Given the description of an element on the screen output the (x, y) to click on. 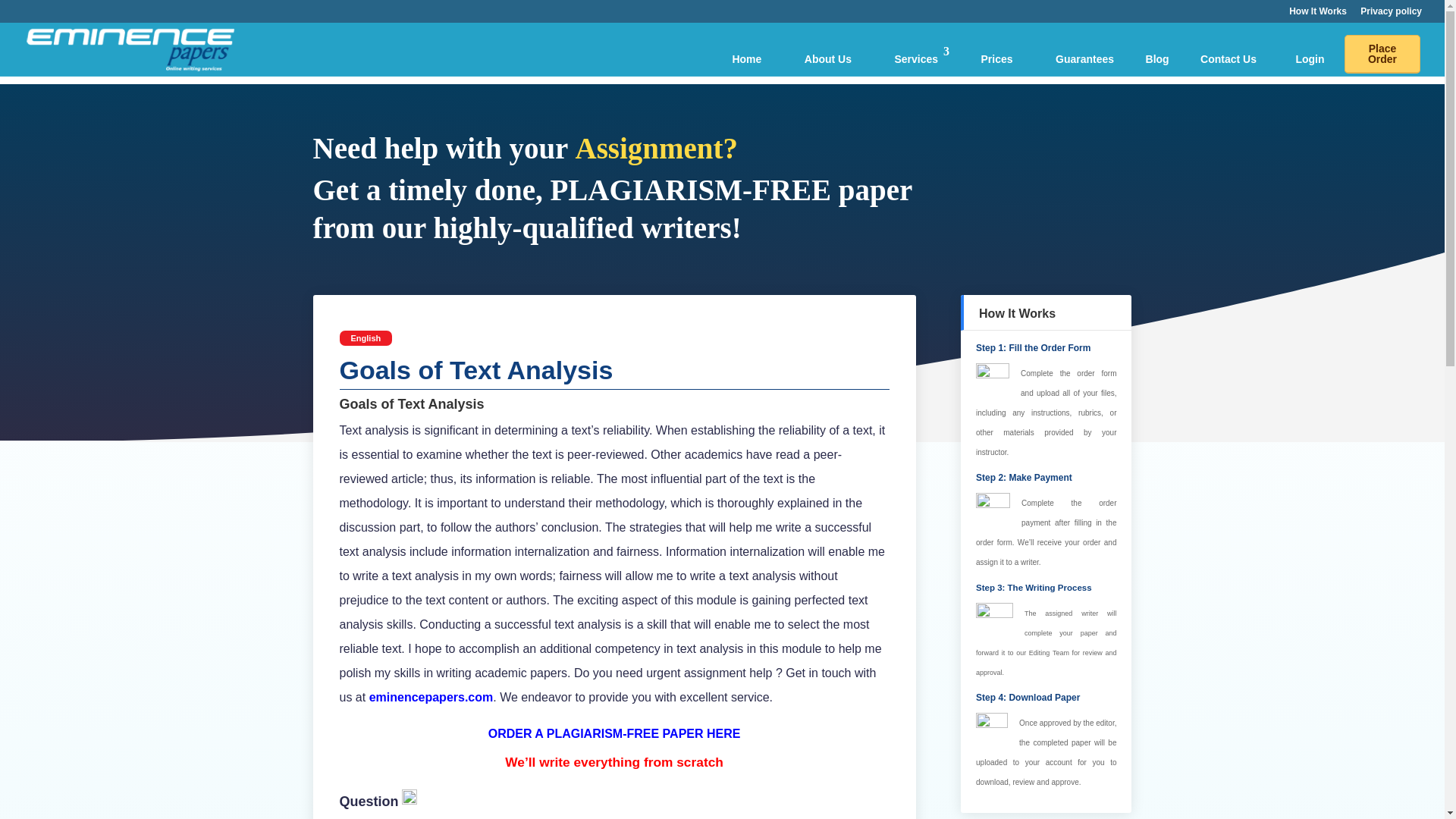
Contact Us (1228, 58)
Services (915, 58)
Home (746, 58)
eminencepapers.com (429, 697)
Place Order (1382, 54)
ORDER A PLAGIARISM-FREE PAPER HERE (614, 733)
Blog (1157, 65)
Login (1305, 65)
How It Works (1317, 14)
About Us (828, 58)
order form (1096, 373)
English (366, 337)
Privacy policy (1390, 14)
Prices (997, 58)
Guarantees (1084, 58)
